Given the description of an element on the screen output the (x, y) to click on. 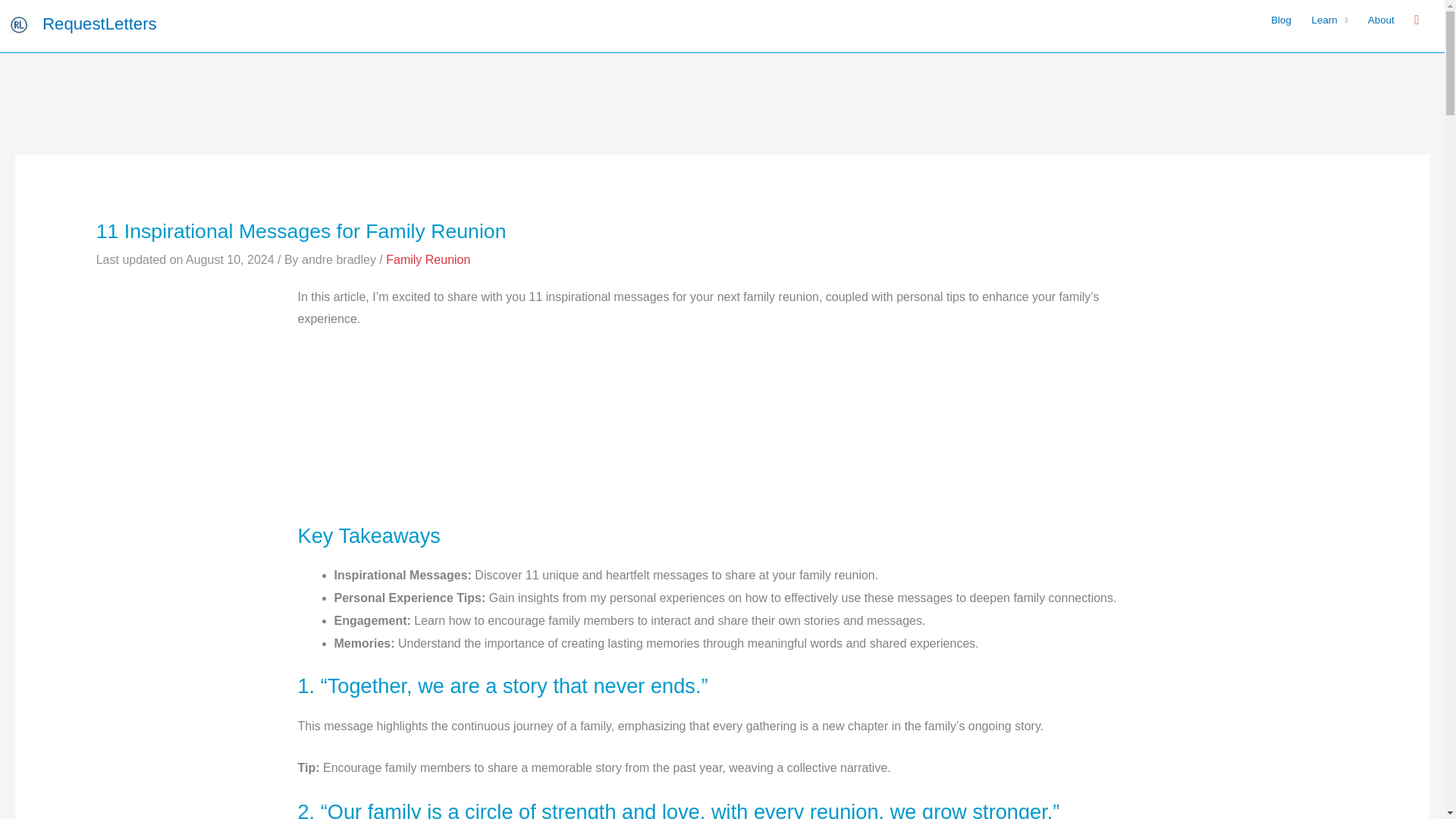
About (1380, 20)
Blog (1280, 20)
andre bradley (339, 259)
Family Reunion (427, 259)
RequestLetters (99, 23)
View all posts by andre bradley (339, 259)
Learn (1328, 20)
